Given the description of an element on the screen output the (x, y) to click on. 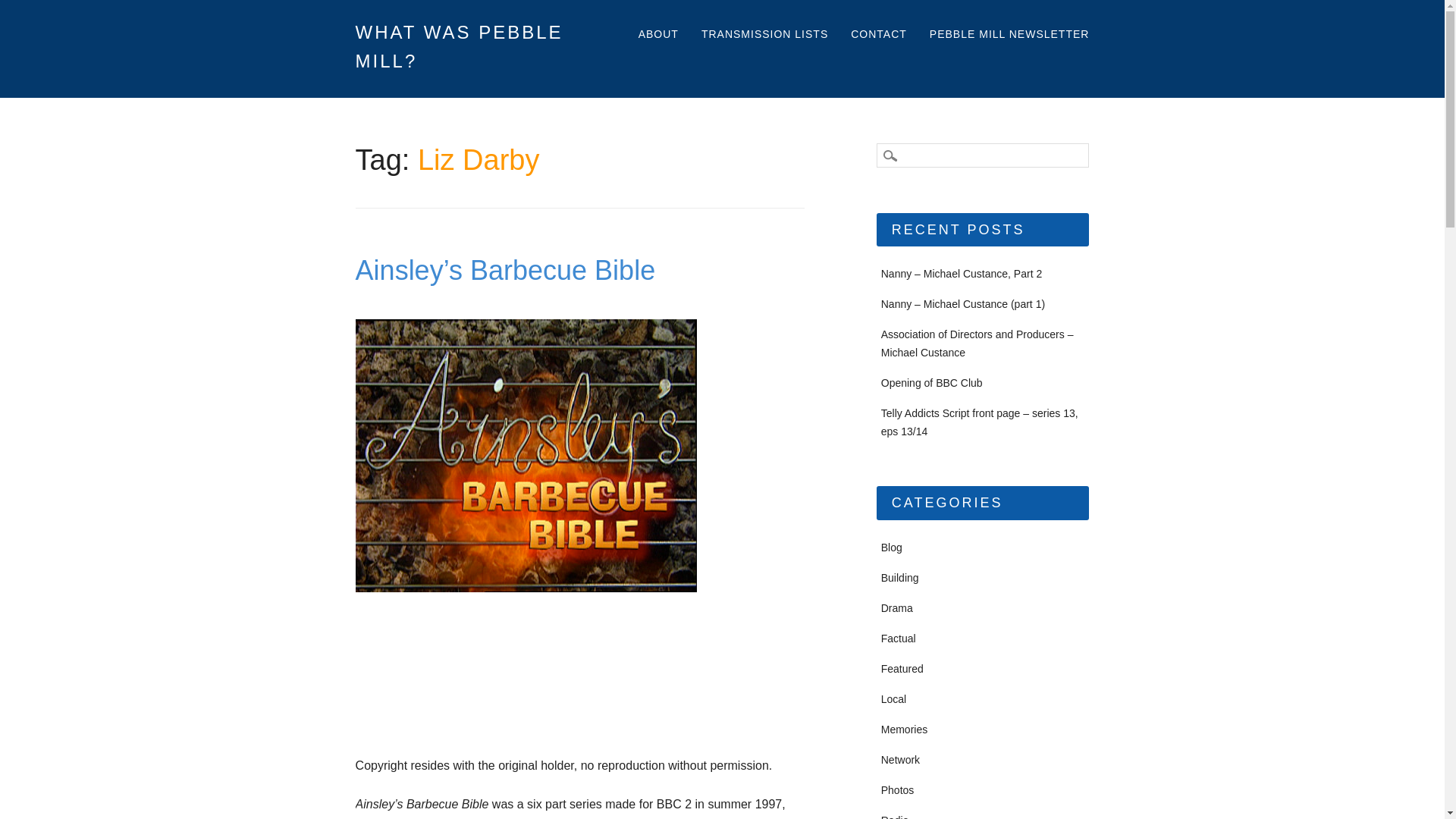
Search (22, 8)
CONTACT (878, 34)
Featured (901, 668)
Drama (896, 607)
Factual (897, 638)
Radio (894, 816)
ABOUT (657, 34)
Blog (891, 547)
Local (892, 698)
Opening of BBC Club (931, 382)
